Given the description of an element on the screen output the (x, y) to click on. 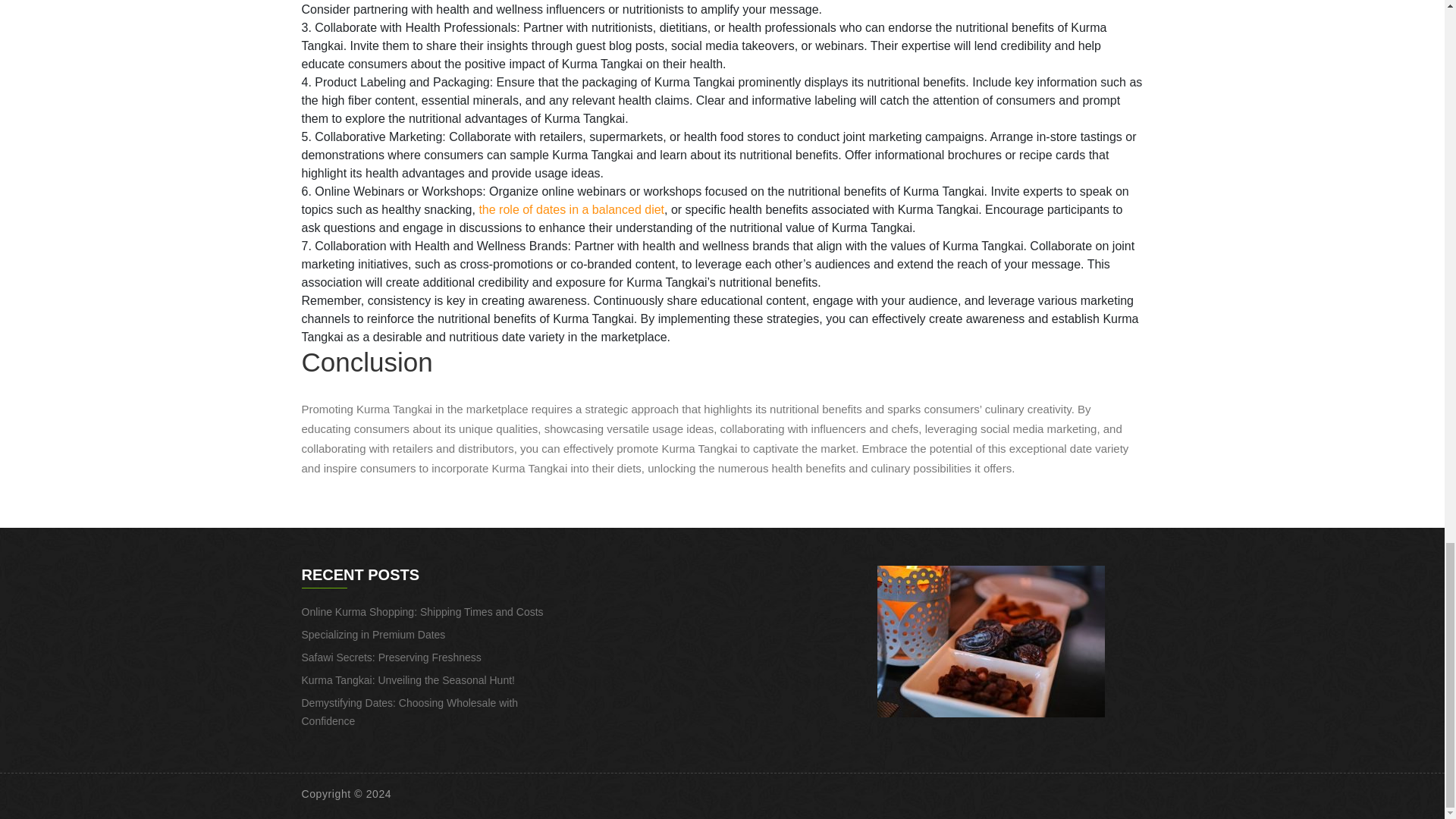
Kurma Tangkai: Unveiling the Seasonal Hunt! (408, 680)
the role of dates in a balanced diet (571, 209)
Demystifying Dates: Choosing Wholesale with Confidence (409, 711)
Specializing in Premium Dates (373, 634)
Safawi Secrets: Preserving Freshness (391, 657)
Online Kurma Shopping: Shipping Times and Costs (422, 612)
